Given the description of an element on the screen output the (x, y) to click on. 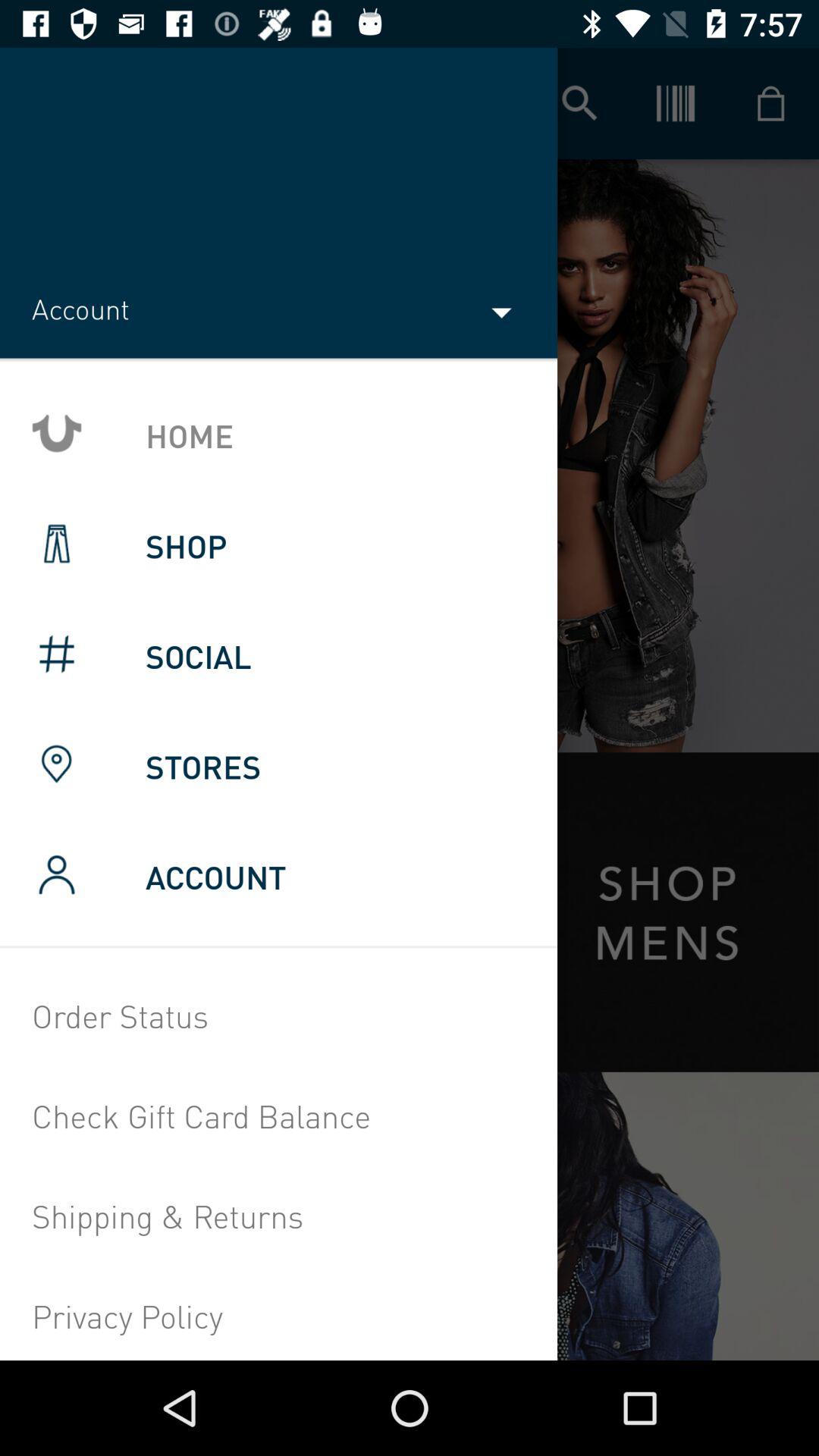
click on cart icon on the top most right corner of the page (771, 103)
click on the second option from the right side of the page (675, 103)
